Given the description of an element on the screen output the (x, y) to click on. 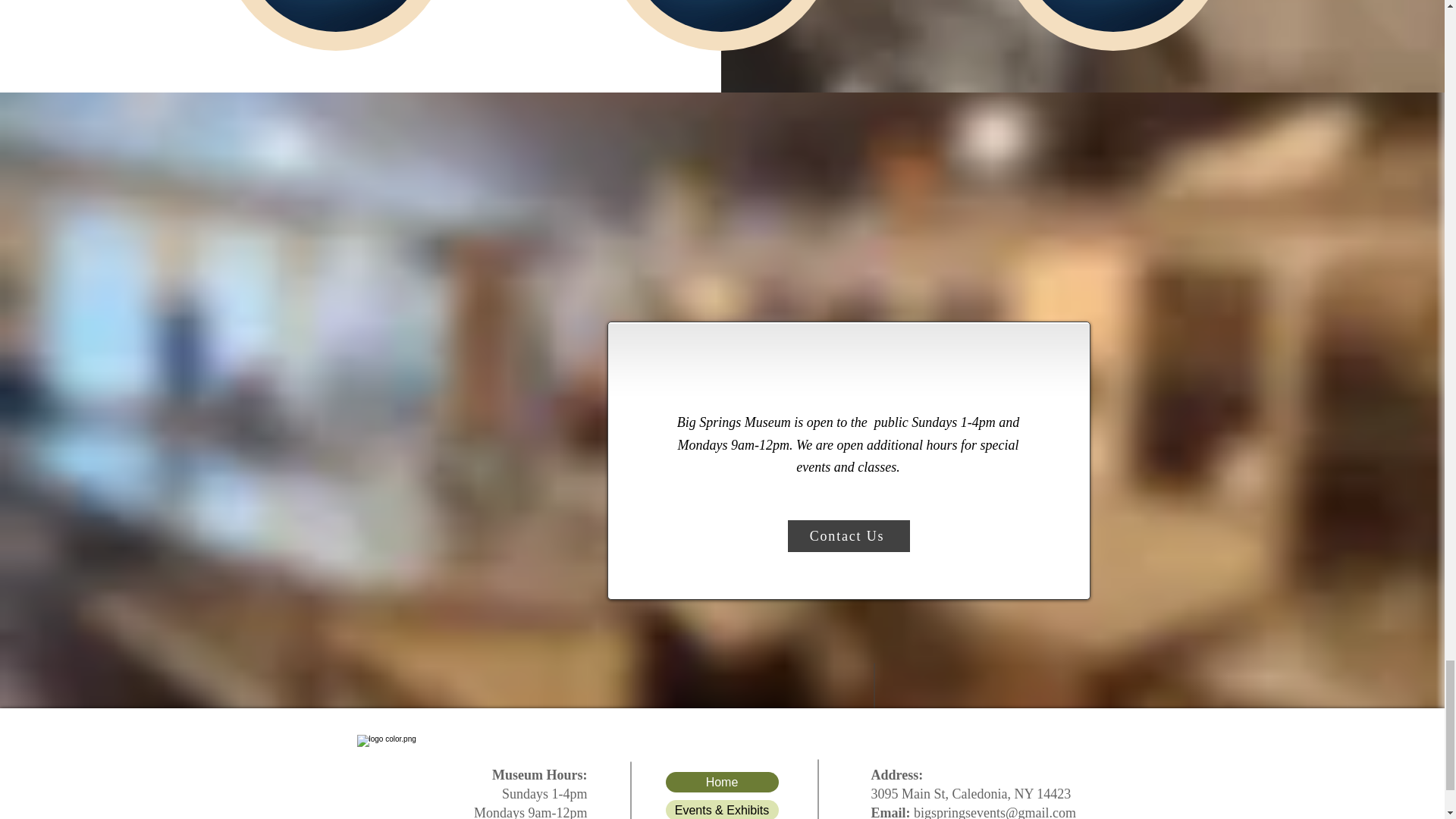
Contact Us (847, 536)
VOLUNTEER (1112, 15)
Home (721, 782)
DONATE (720, 15)
Google Maps (533, 311)
MEMBERSHIP (335, 15)
